Given the description of an element on the screen output the (x, y) to click on. 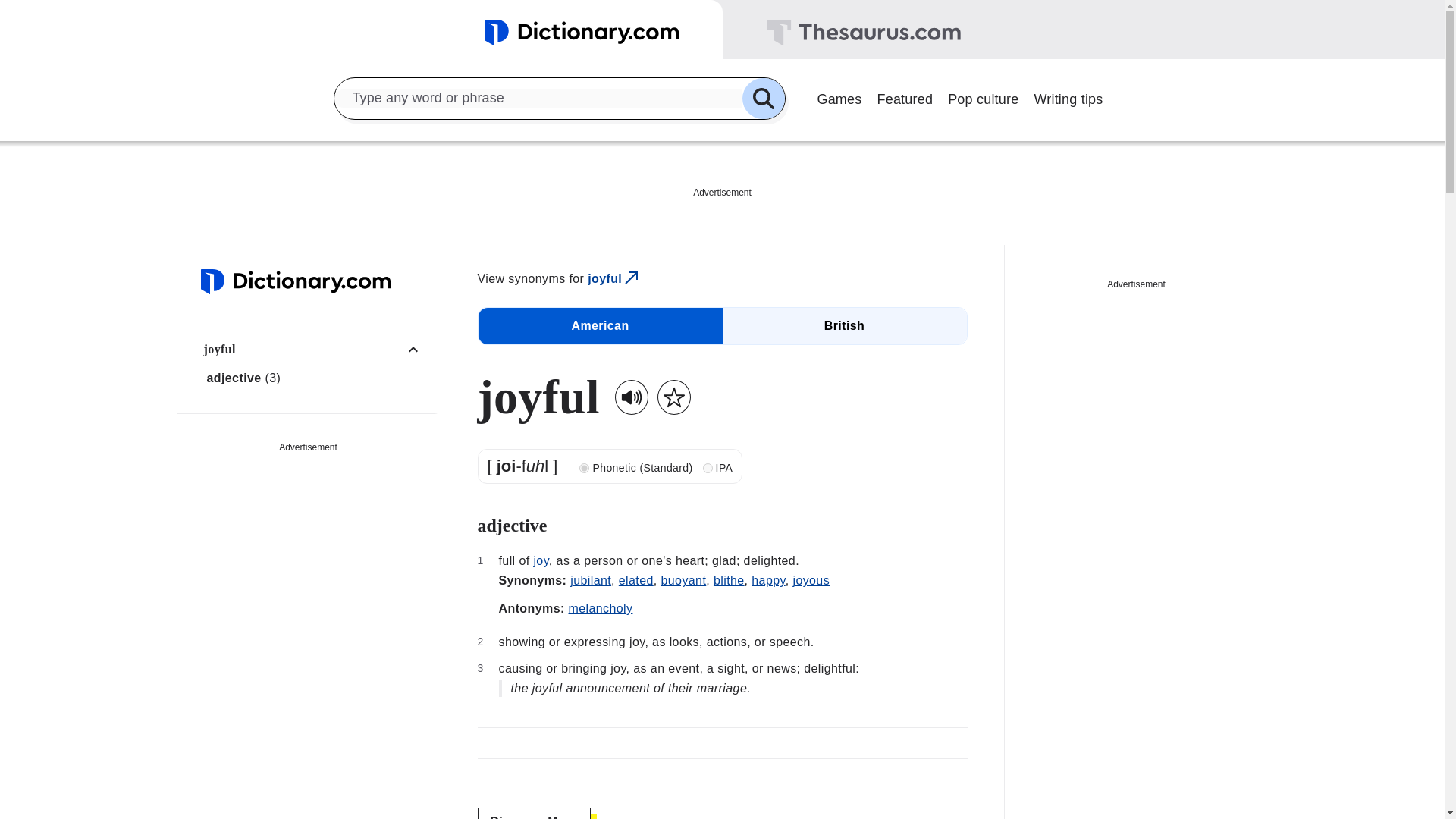
joyful (316, 349)
phonetic (584, 468)
Pop culture (983, 97)
ipa (708, 468)
Featured (904, 97)
American (599, 325)
joyful (615, 279)
jubilant (590, 580)
British (844, 325)
Games (839, 97)
